Given the description of an element on the screen output the (x, y) to click on. 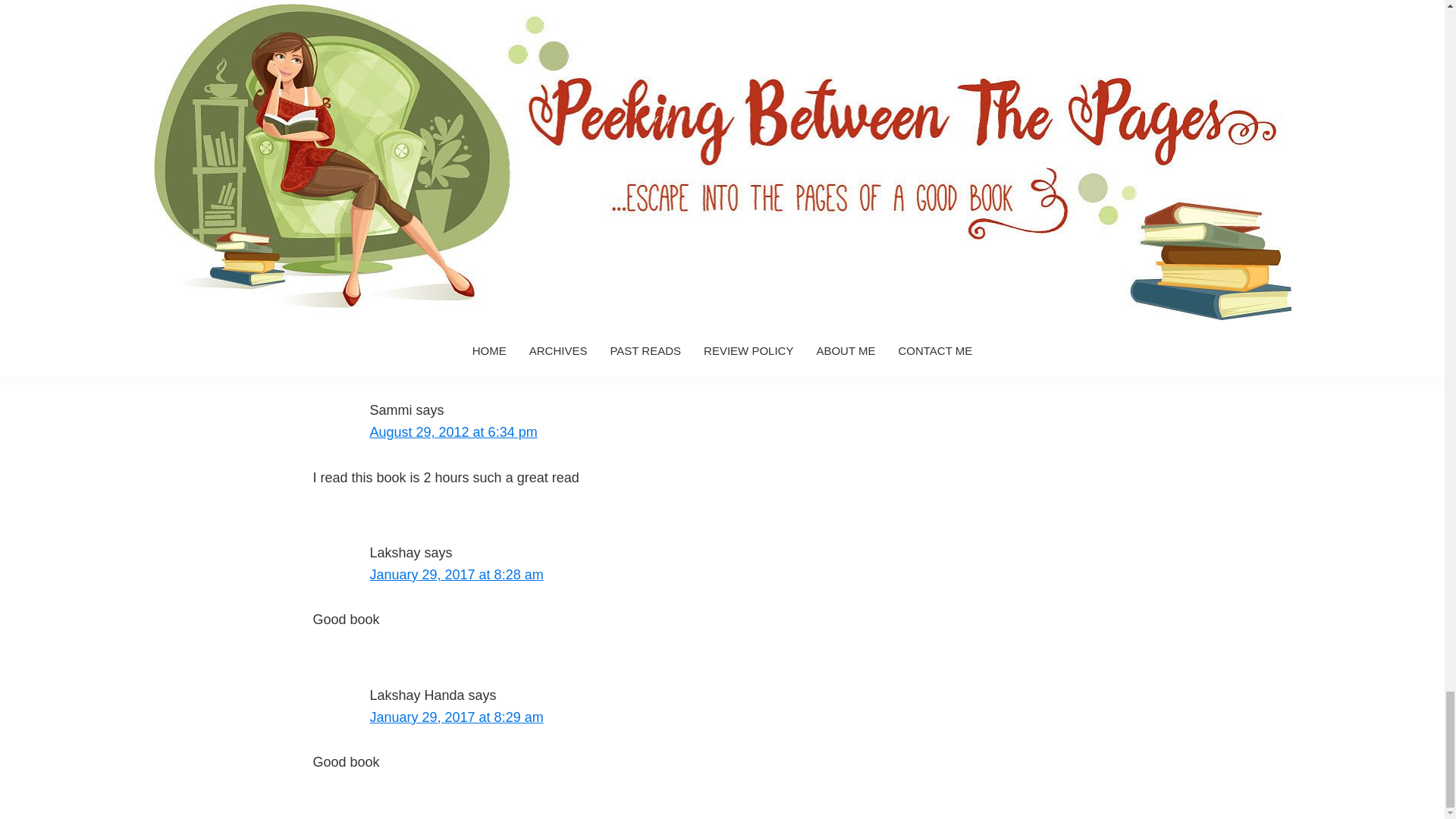
March 5, 2009 at 1:32 am (447, 267)
January 29, 2017 at 8:28 am (456, 574)
August 29, 2012 at 6:34 pm (453, 432)
